Given the description of an element on the screen output the (x, y) to click on. 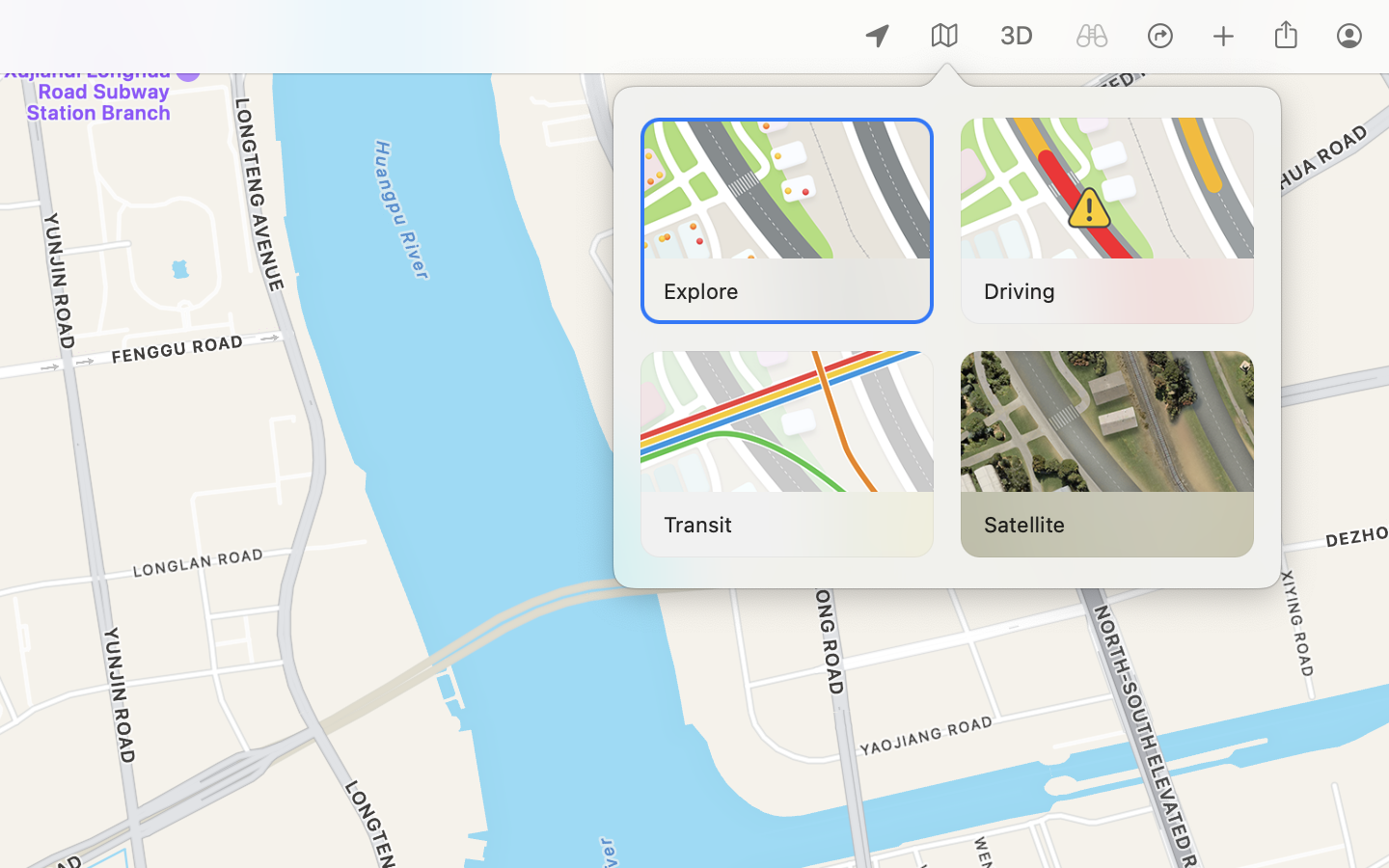
0 Element type: AXCheckBox (1016, 36)
